Given the description of an element on the screen output the (x, y) to click on. 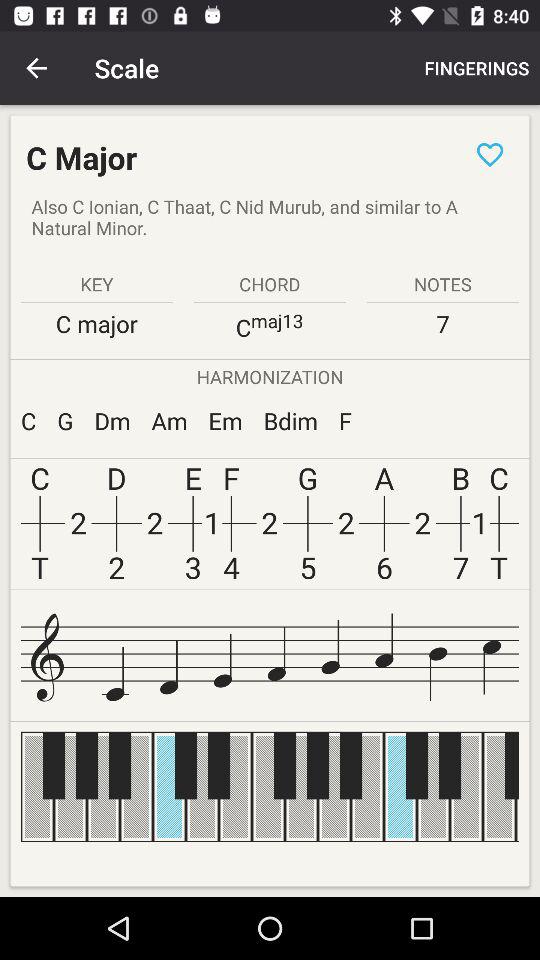
add to favorites (490, 154)
